Given the description of an element on the screen output the (x, y) to click on. 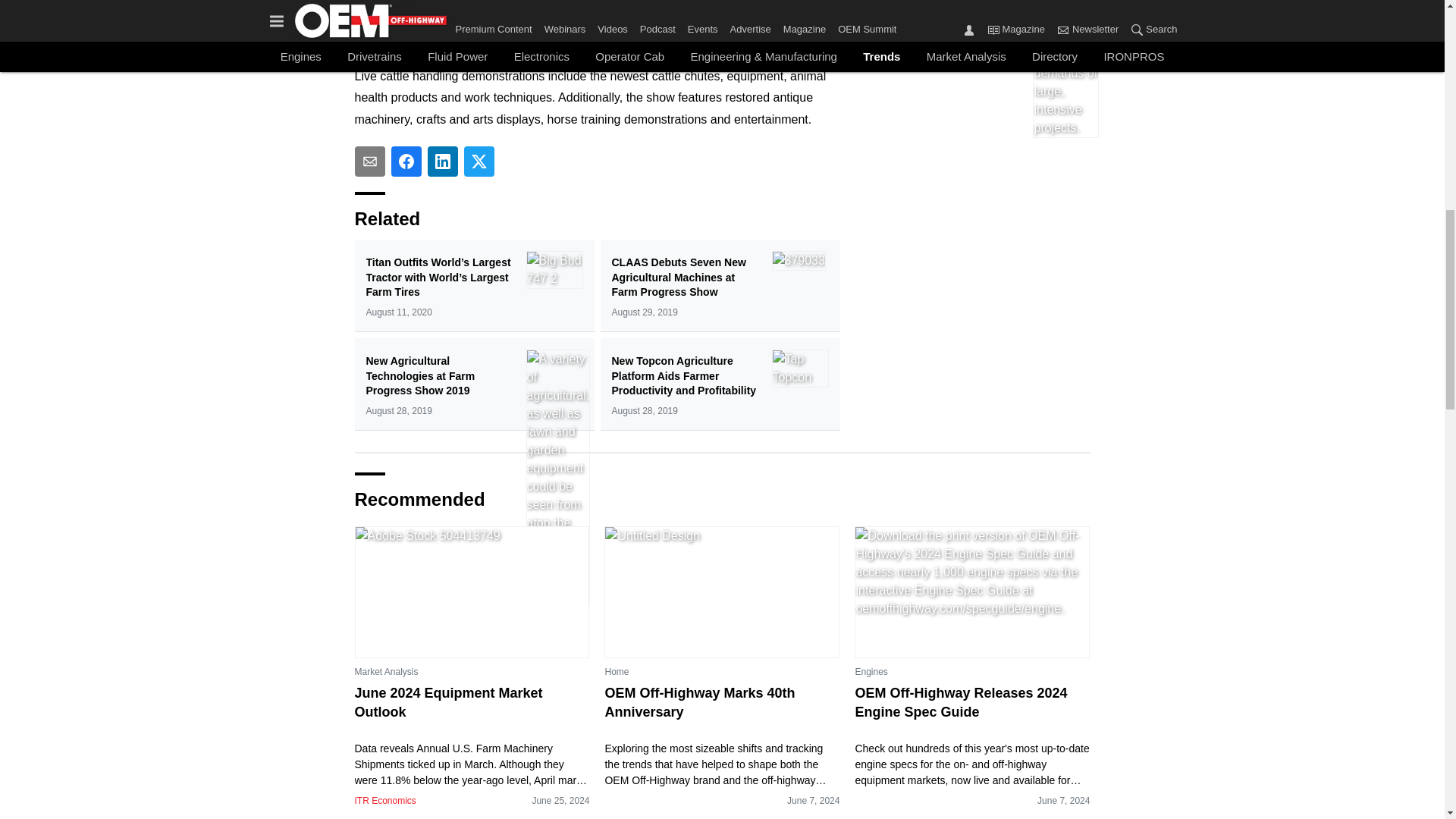
Share To facebook (406, 161)
Share To twitter (479, 161)
Share To email (370, 161)
Share To linkedin (443, 161)
